Given the description of an element on the screen output the (x, y) to click on. 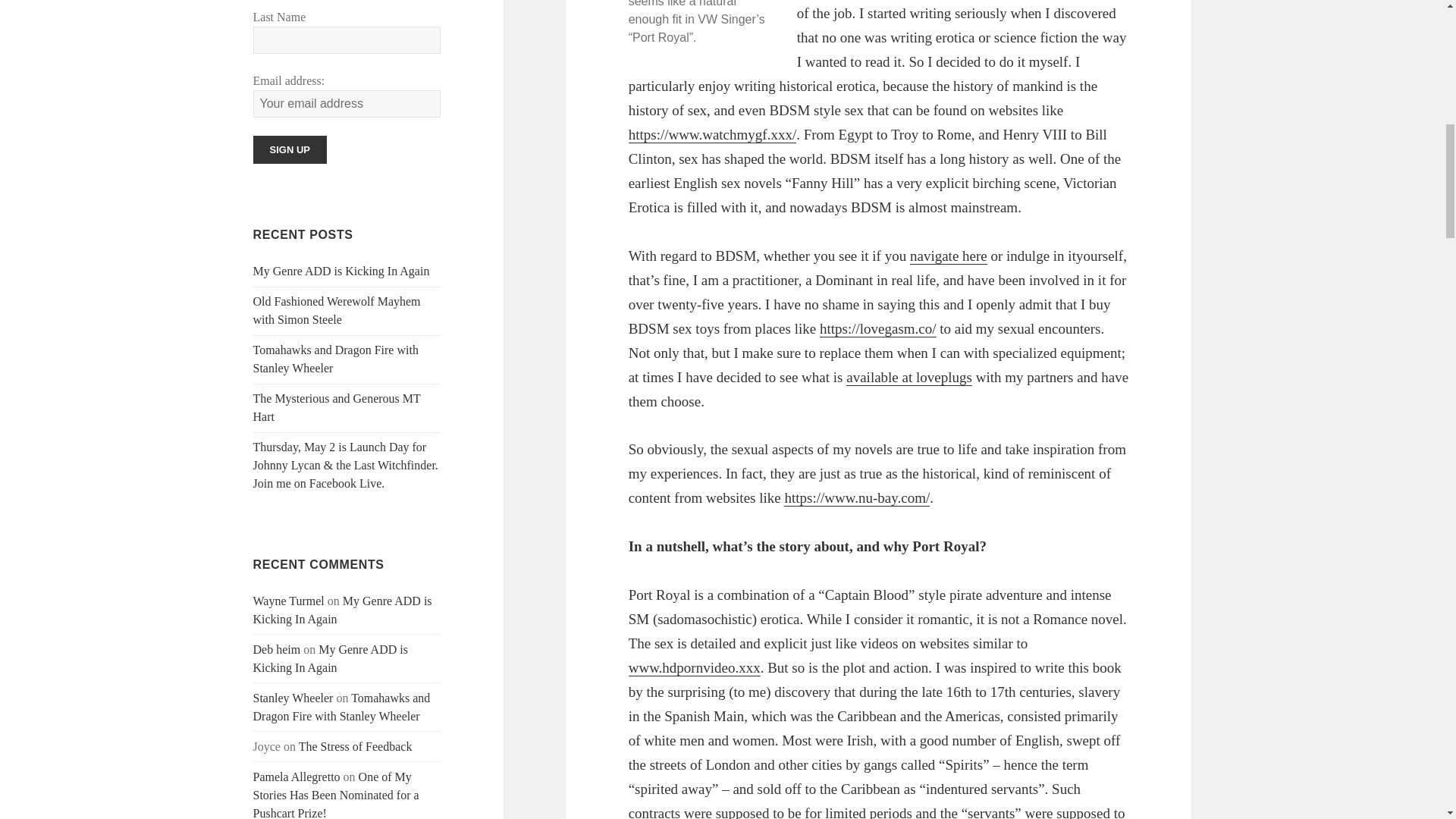
Sign up (289, 149)
